Given the description of an element on the screen output the (x, y) to click on. 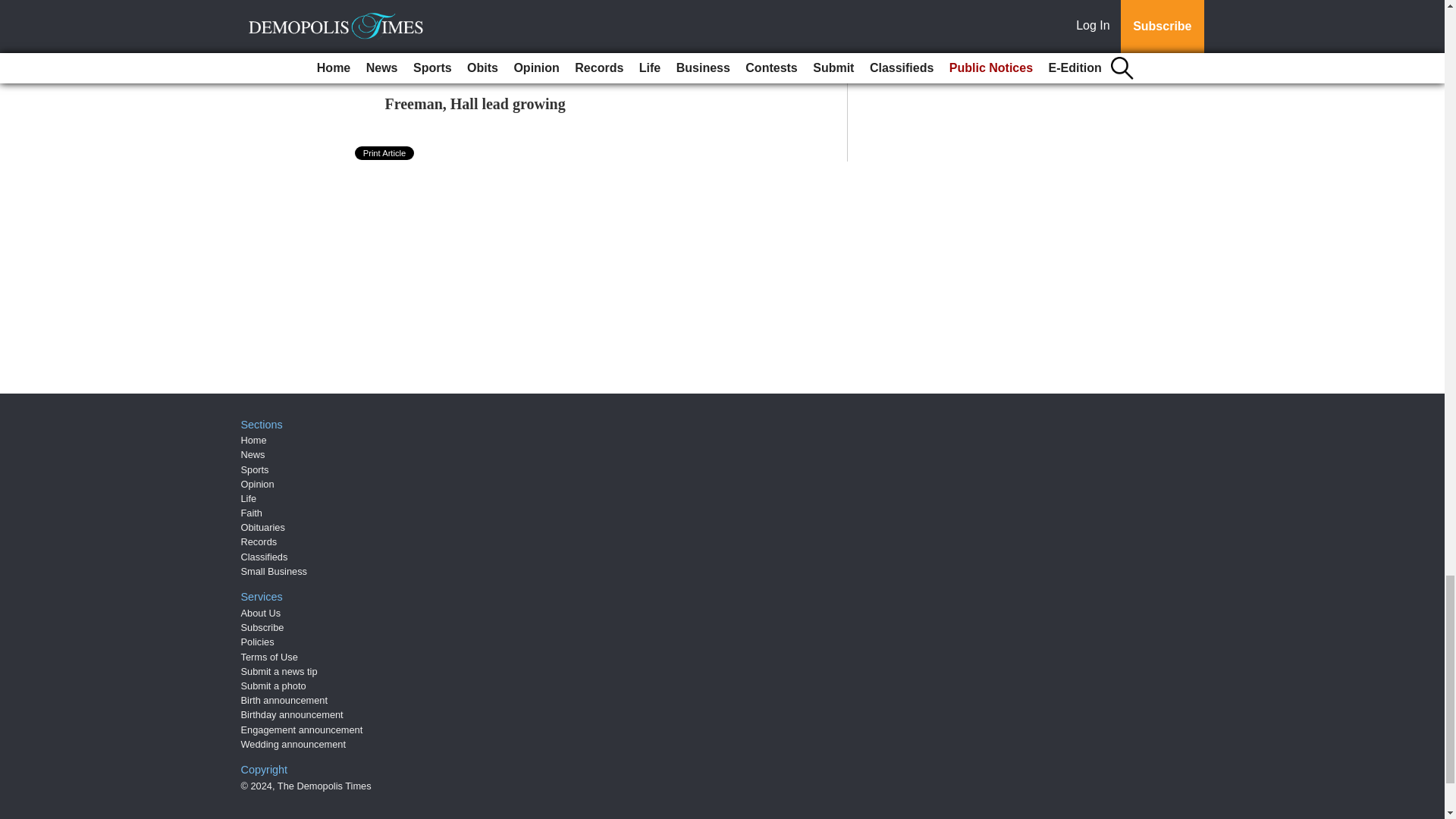
Faith (251, 512)
Freeman, Hall lead growing (475, 103)
Freeman, Hall, Petrey win runoffs (495, 4)
Petrey takes D2 race; Hall and Freeman cling to large lead (573, 52)
Petrey takes D2 race; Hall and Freeman cling to large lead (573, 52)
Sports (255, 469)
Obituaries (263, 527)
Freeman, Hall, Petrey win runoffs (495, 4)
Print Article (384, 152)
Life (249, 498)
Opinion (258, 483)
Home (253, 439)
Freeman, Hall lead growing (475, 103)
News (252, 454)
